Given the description of an element on the screen output the (x, y) to click on. 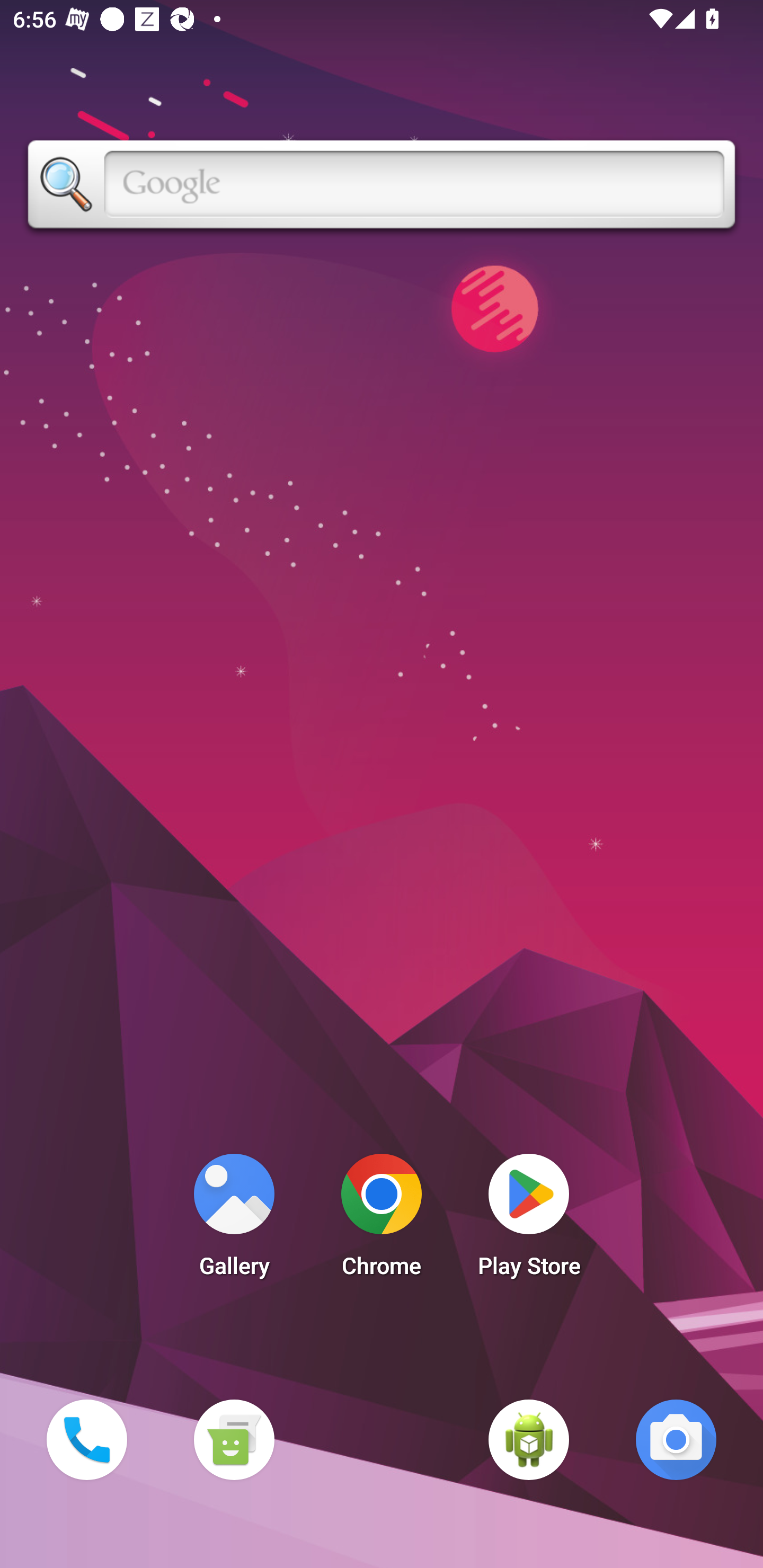
Gallery (233, 1220)
Chrome (381, 1220)
Play Store (528, 1220)
Phone (86, 1439)
Messaging (233, 1439)
WebView Browser Tester (528, 1439)
Camera (676, 1439)
